Given the description of an element on the screen output the (x, y) to click on. 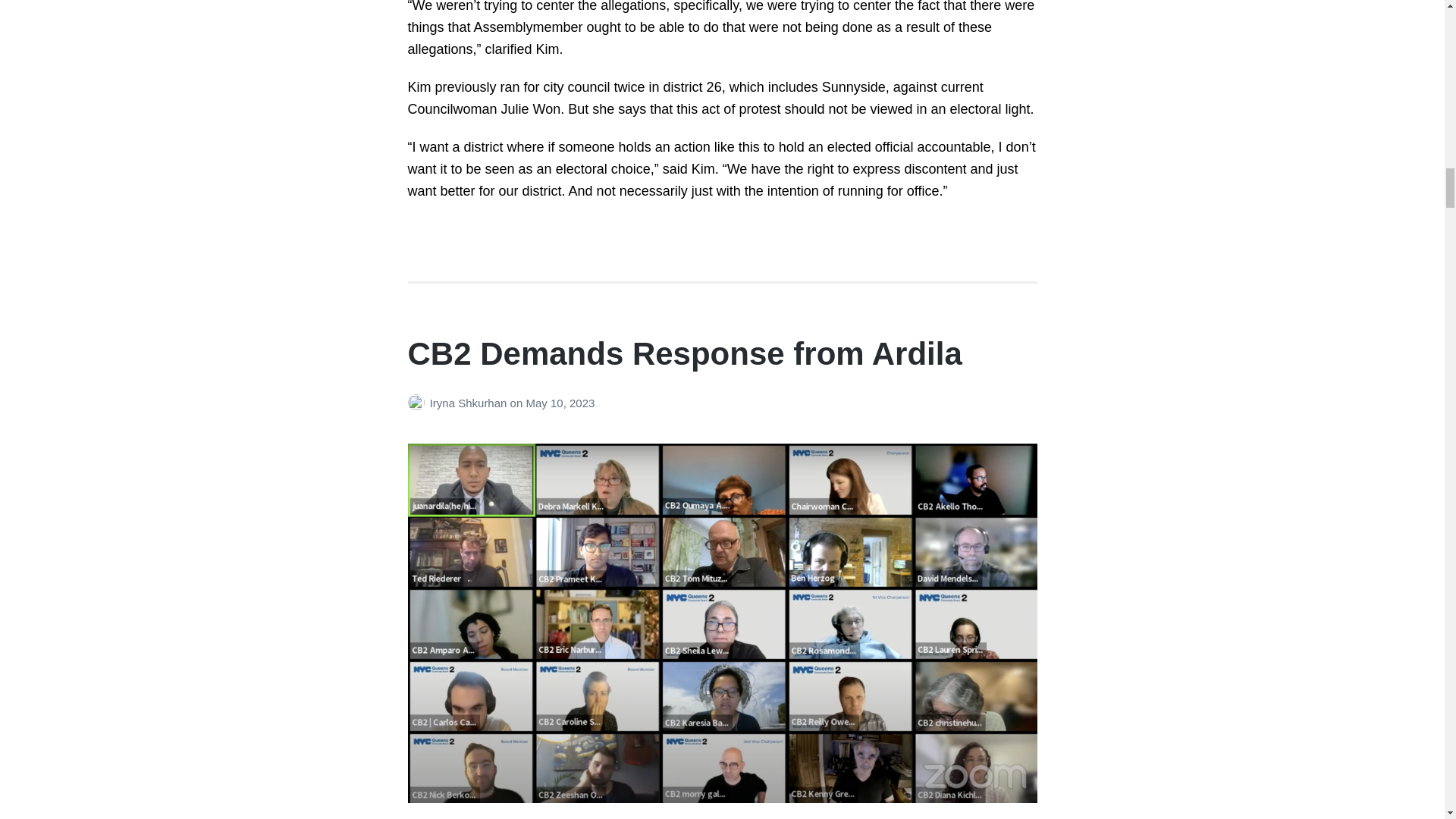
Posts by Iryna Shkurhan (418, 402)
